Given the description of an element on the screen output the (x, y) to click on. 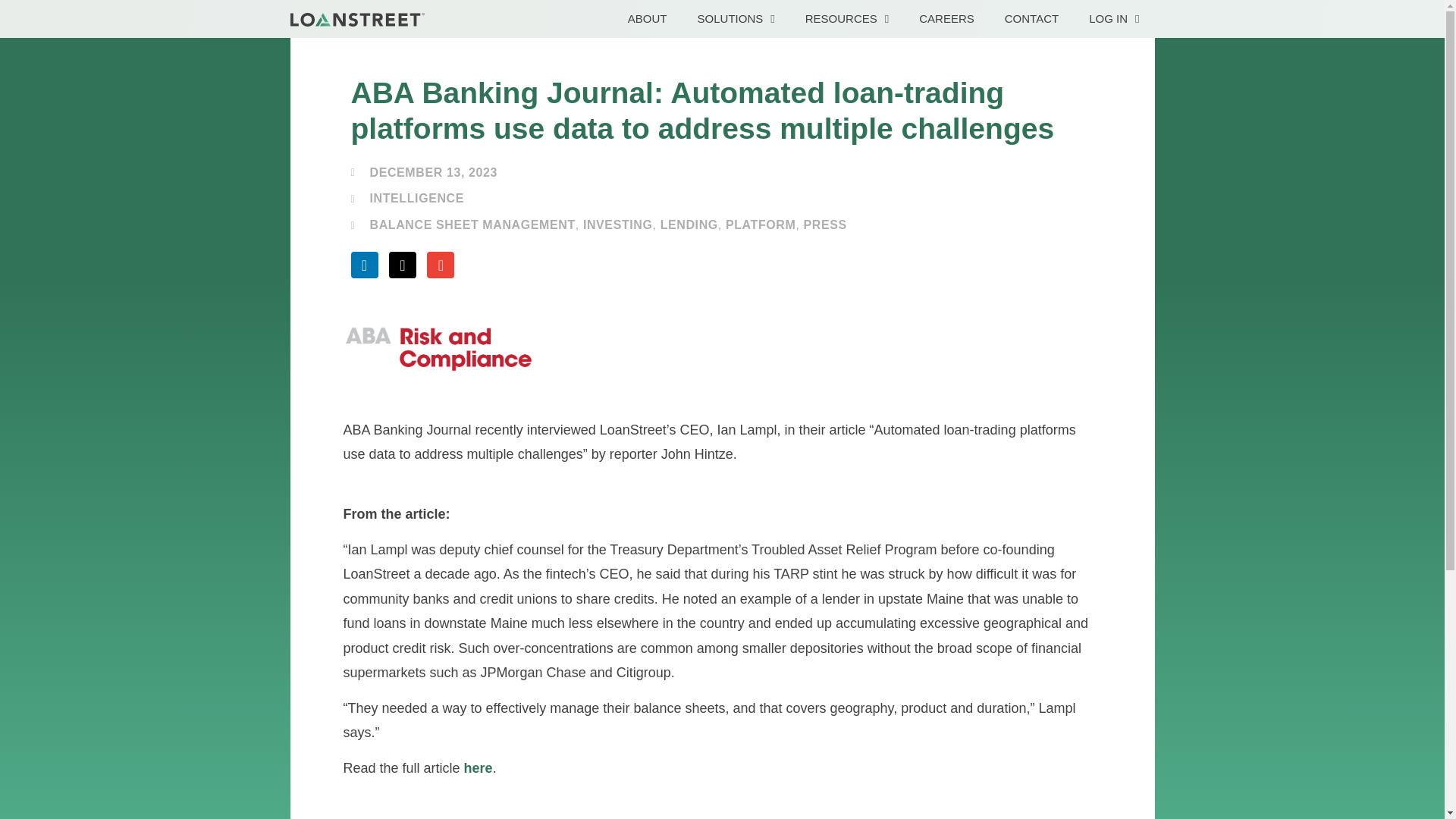
CAREERS (947, 18)
RESOURCES (847, 18)
SOLUTIONS (736, 18)
CONTACT (1032, 18)
LOG IN (1114, 18)
ABOUT (647, 18)
